Given the description of an element on the screen output the (x, y) to click on. 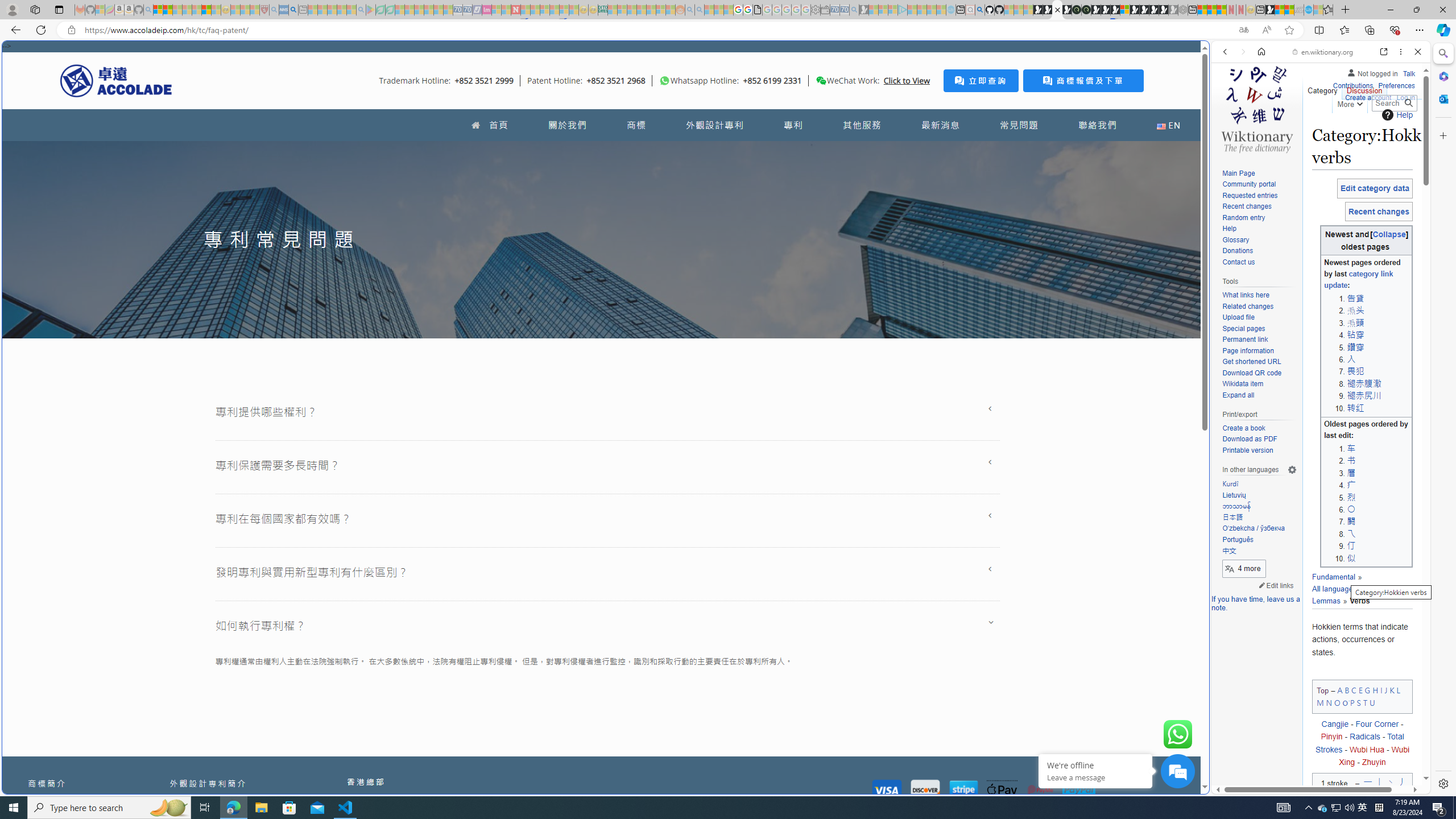
Discussion (1363, 87)
